Given the description of an element on the screen output the (x, y) to click on. 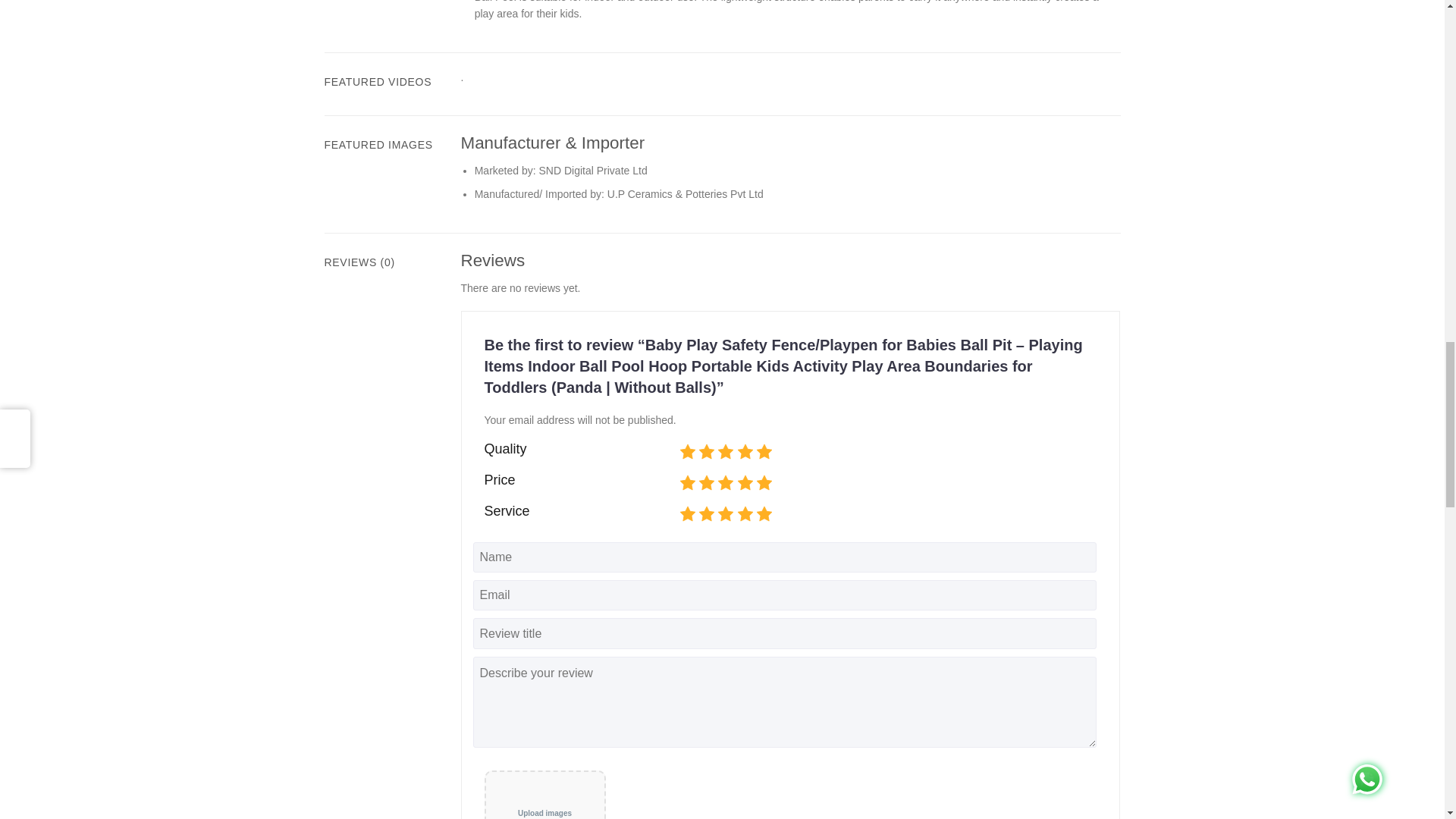
2 (682, 483)
4 (682, 515)
3 (682, 515)
1 (682, 452)
5 (682, 483)
3 (682, 452)
2 (682, 452)
5 (682, 452)
3 (682, 483)
2 (682, 515)
